Given the description of an element on the screen output the (x, y) to click on. 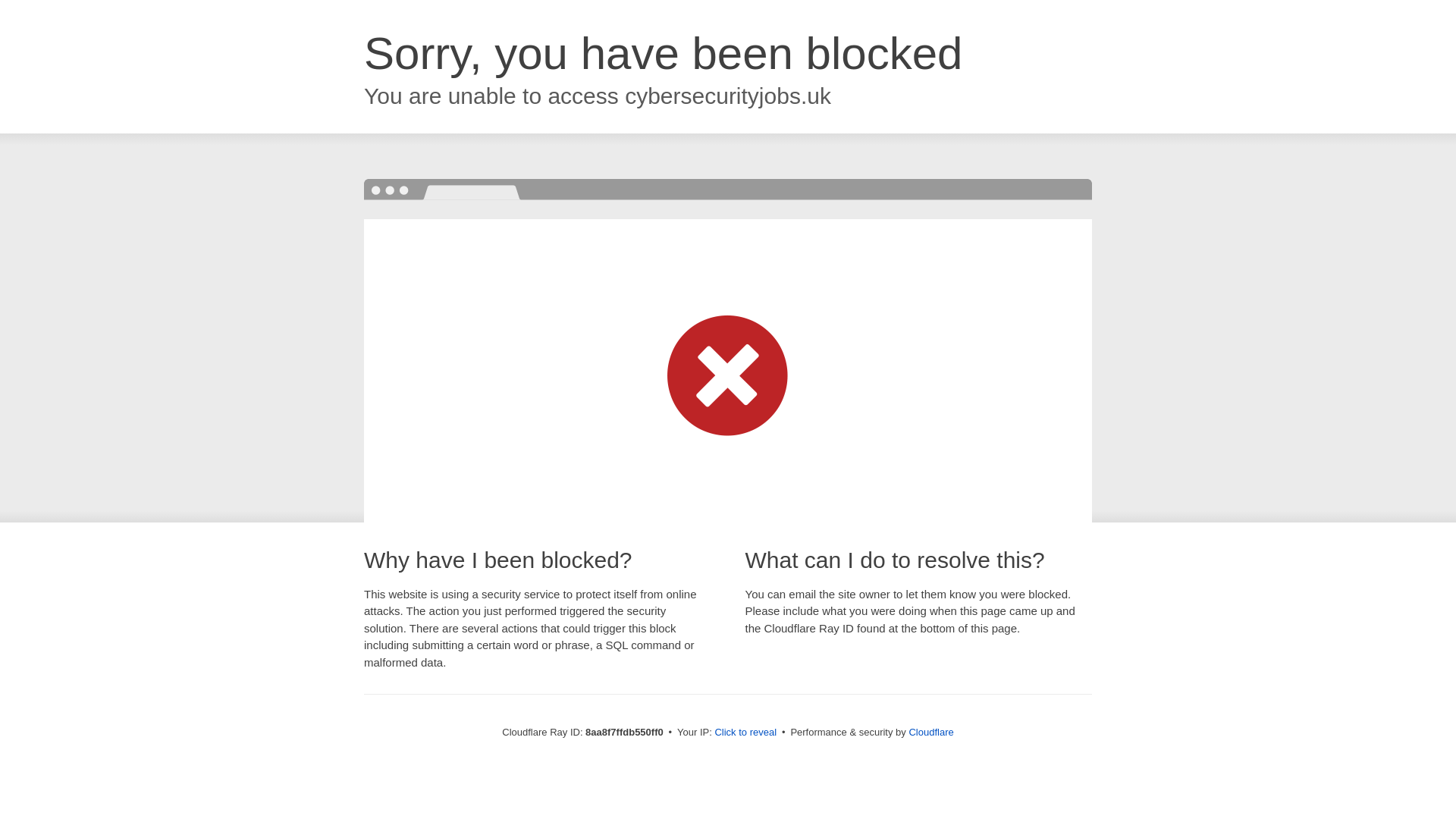
Cloudflare (930, 731)
Click to reveal (745, 732)
